Given the description of an element on the screen output the (x, y) to click on. 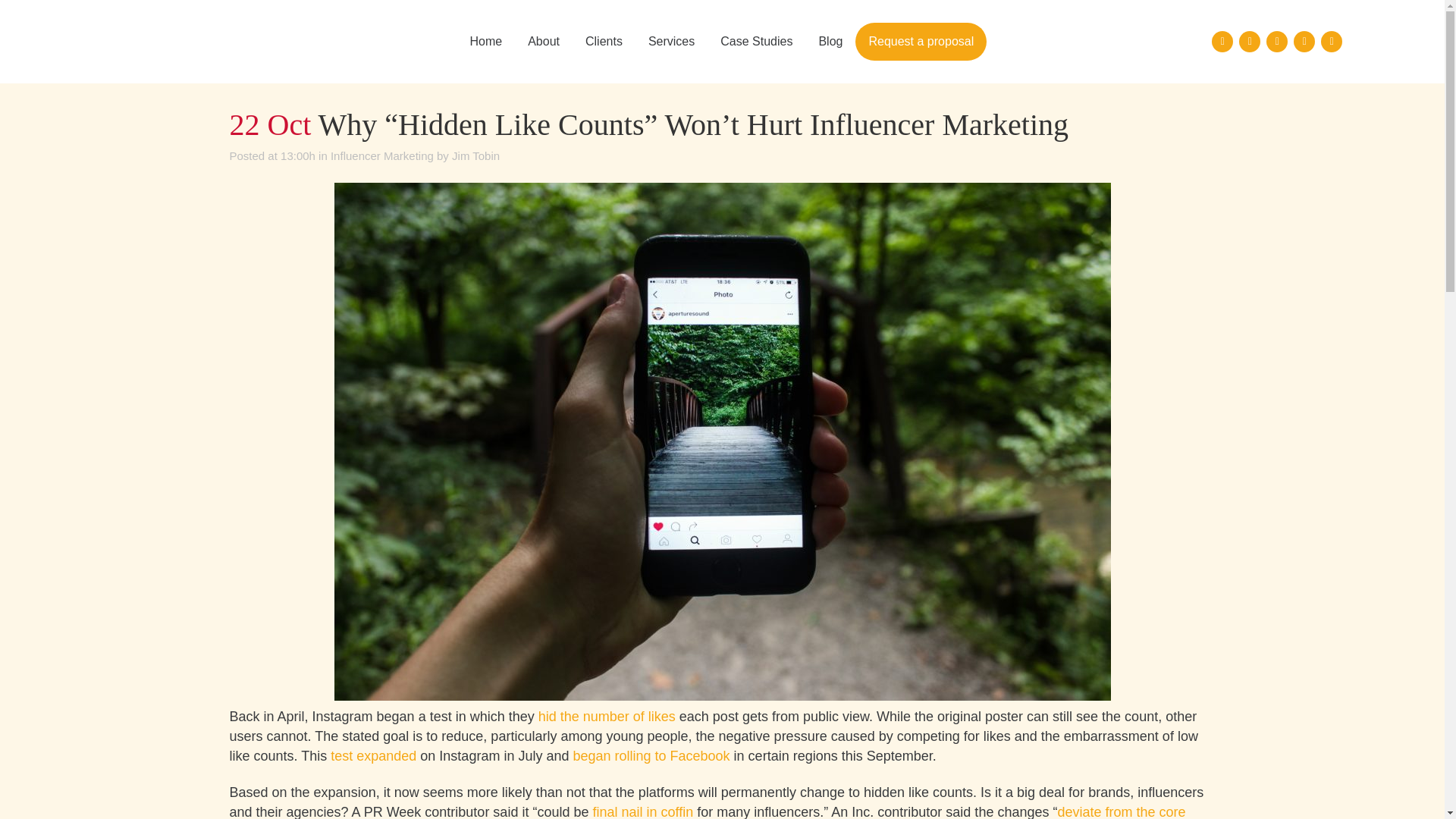
Jim Tobin (475, 155)
final nail in coffin (642, 811)
deviate from the core things (706, 811)
Case Studies (756, 41)
hid the number of likes (606, 716)
began rolling to Facebook (652, 755)
test expanded (371, 755)
Request a proposal (921, 41)
Influencer Marketing (381, 155)
